Given the description of an element on the screen output the (x, y) to click on. 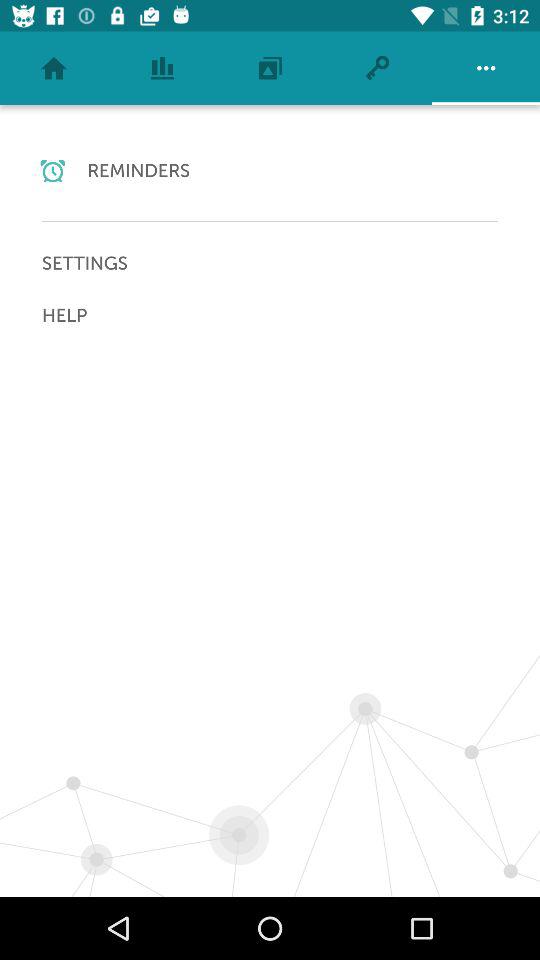
tap the settings (270, 263)
